Given the description of an element on the screen output the (x, y) to click on. 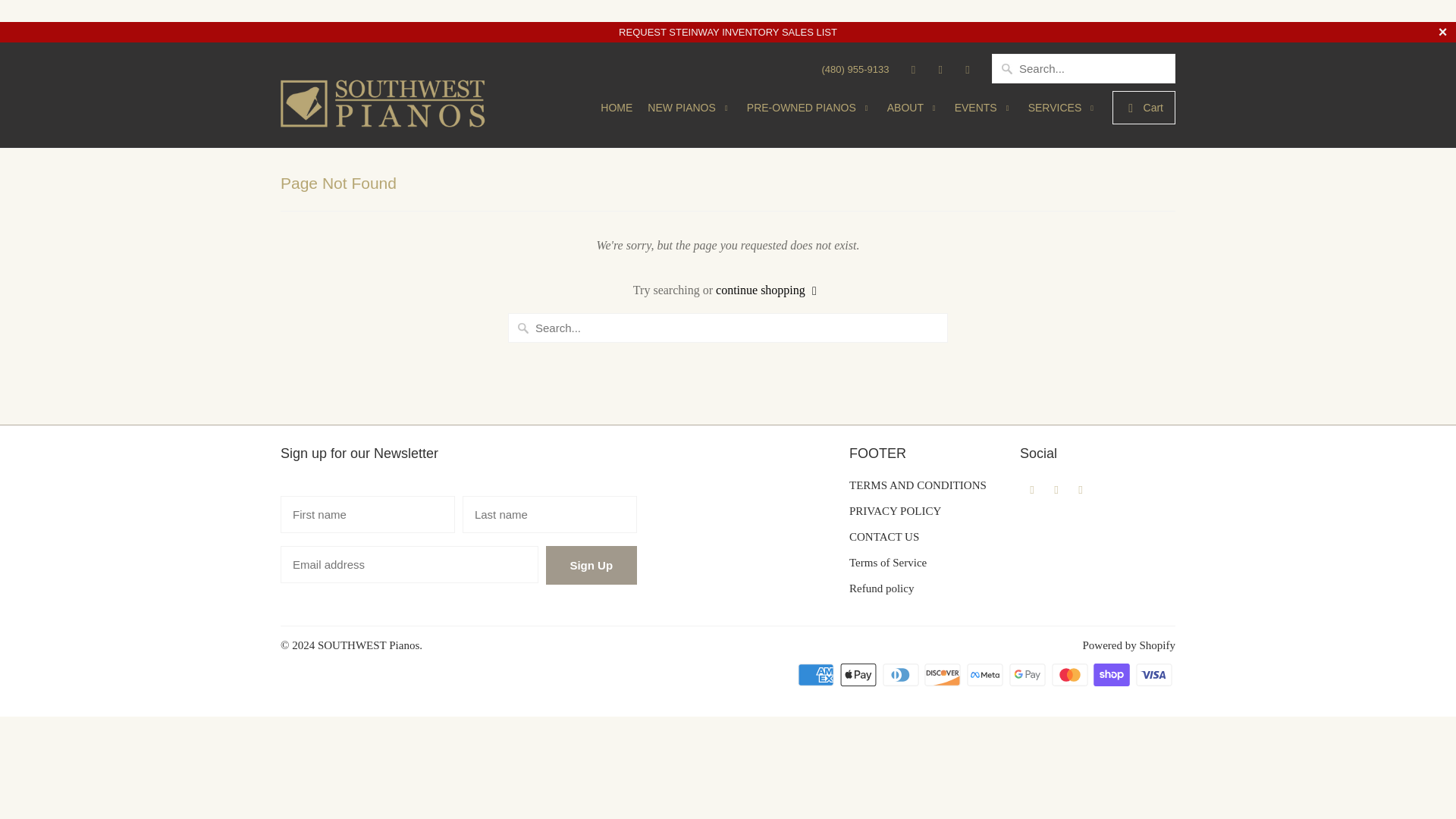
SOUTHWEST Pianos on Instagram (1080, 488)
American Express (817, 674)
SOUTHWEST Pianos on Facebook (1031, 488)
Google Pay (1028, 674)
SERVICES (1062, 112)
SOUTHWEST Pianos (387, 94)
SOUTHWEST Pianos on YouTube (940, 68)
ABOUT (912, 112)
Visa (1154, 674)
HOME (615, 111)
